Given the description of an element on the screen output the (x, y) to click on. 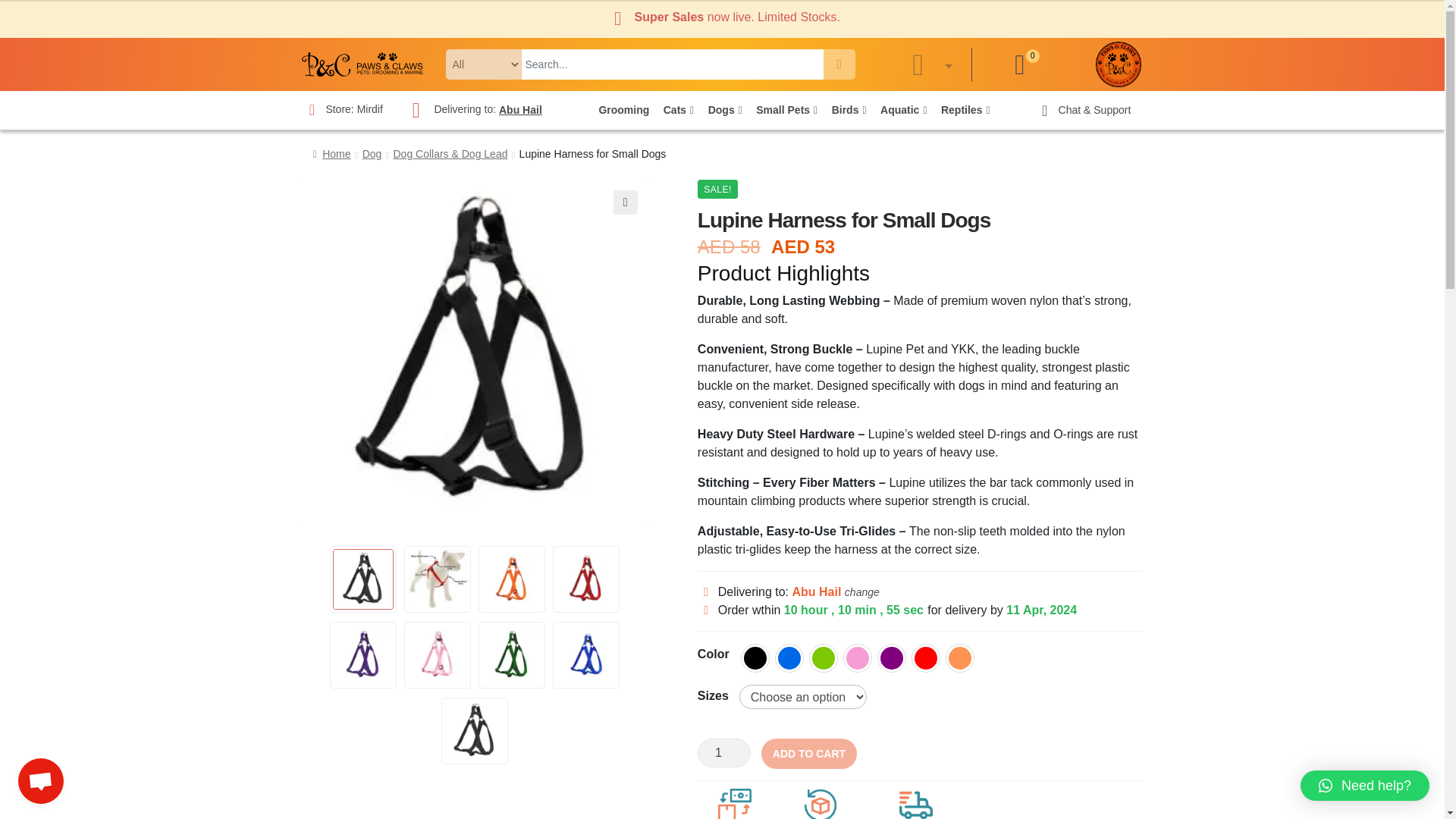
Delivering to: Abu Hail (471, 109)
Store: Mirdif (341, 109)
BASICS-BLACK-Step-In-Harness-half-1-250x250 (474, 352)
0 (1019, 63)
1 (724, 752)
